Given the description of an element on the screen output the (x, y) to click on. 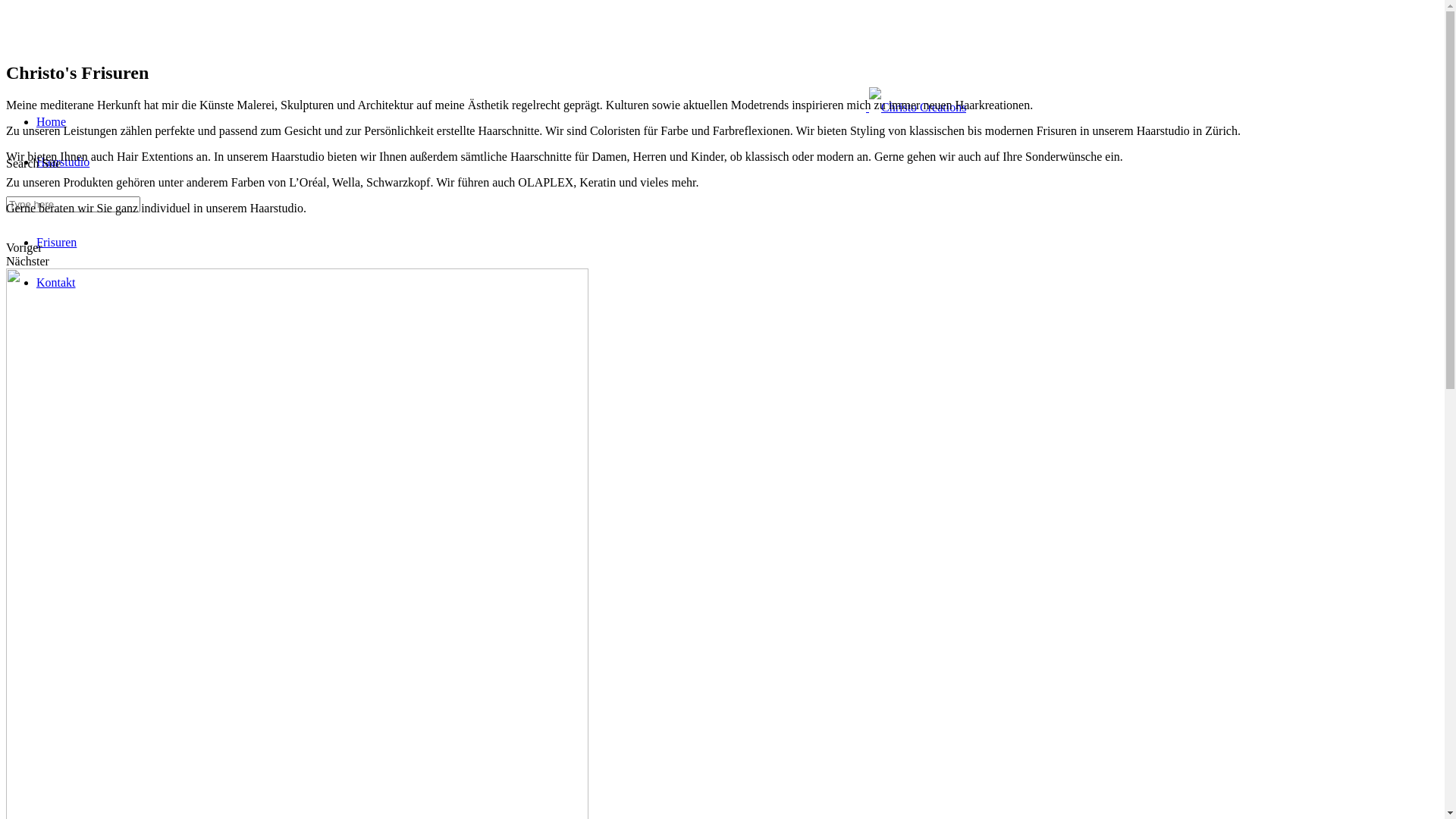
Christo Element type: text (54, 201)
Kontakt Element type: text (55, 282)
Home Element type: text (50, 121)
Frisuren Element type: text (56, 241)
Haarstudio Element type: text (62, 161)
